Given the description of an element on the screen output the (x, y) to click on. 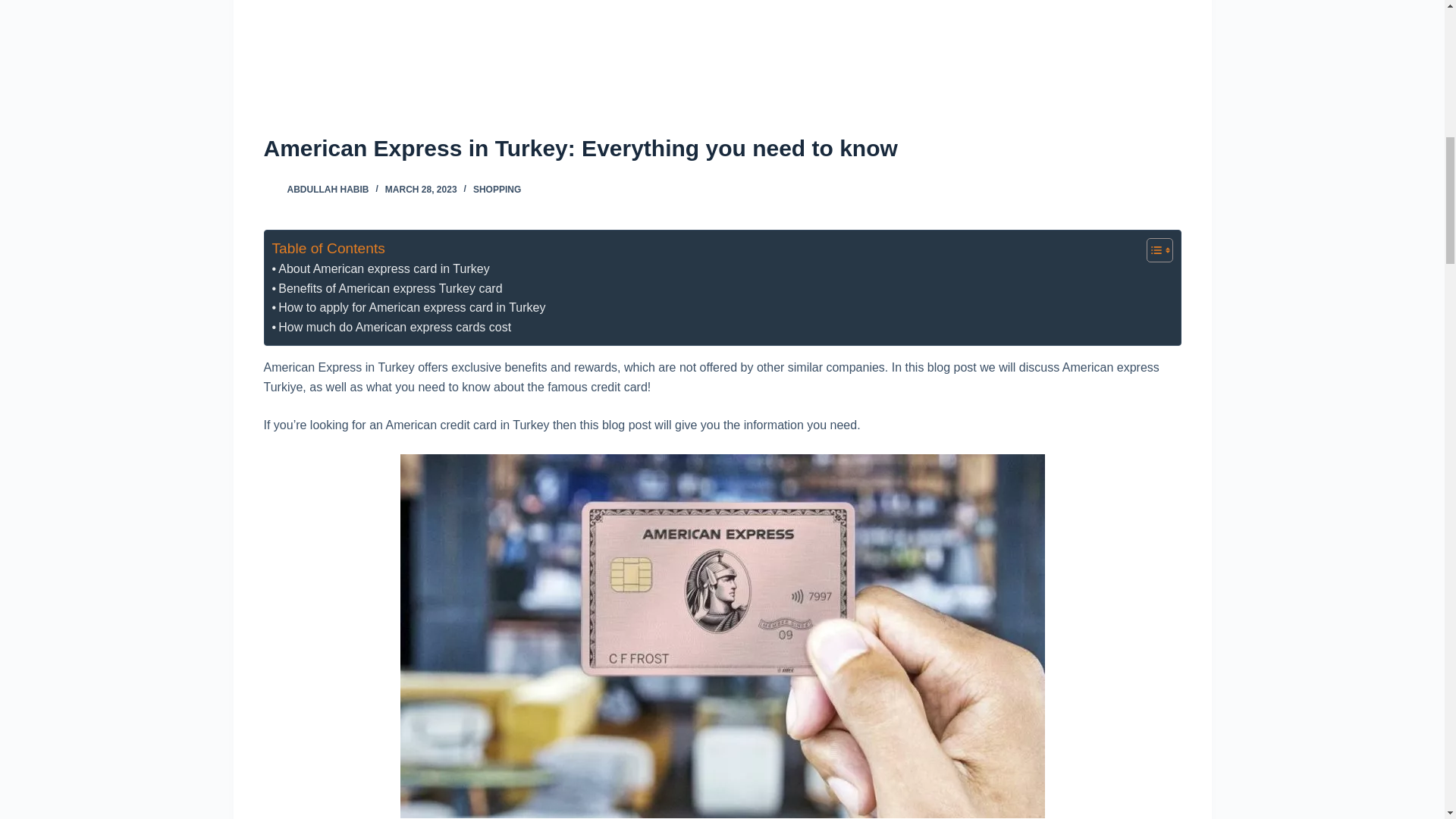
American Express in Turkey: Everything you need to know (721, 148)
Posts by Abdullah Habib (327, 189)
How much do American express cards cost (390, 327)
How to apply for American express card in Turkey (407, 307)
Benefits of American express Turkey card (386, 288)
Advertisement (721, 61)
About American express card in Turkey (379, 269)
